Given the description of an element on the screen output the (x, y) to click on. 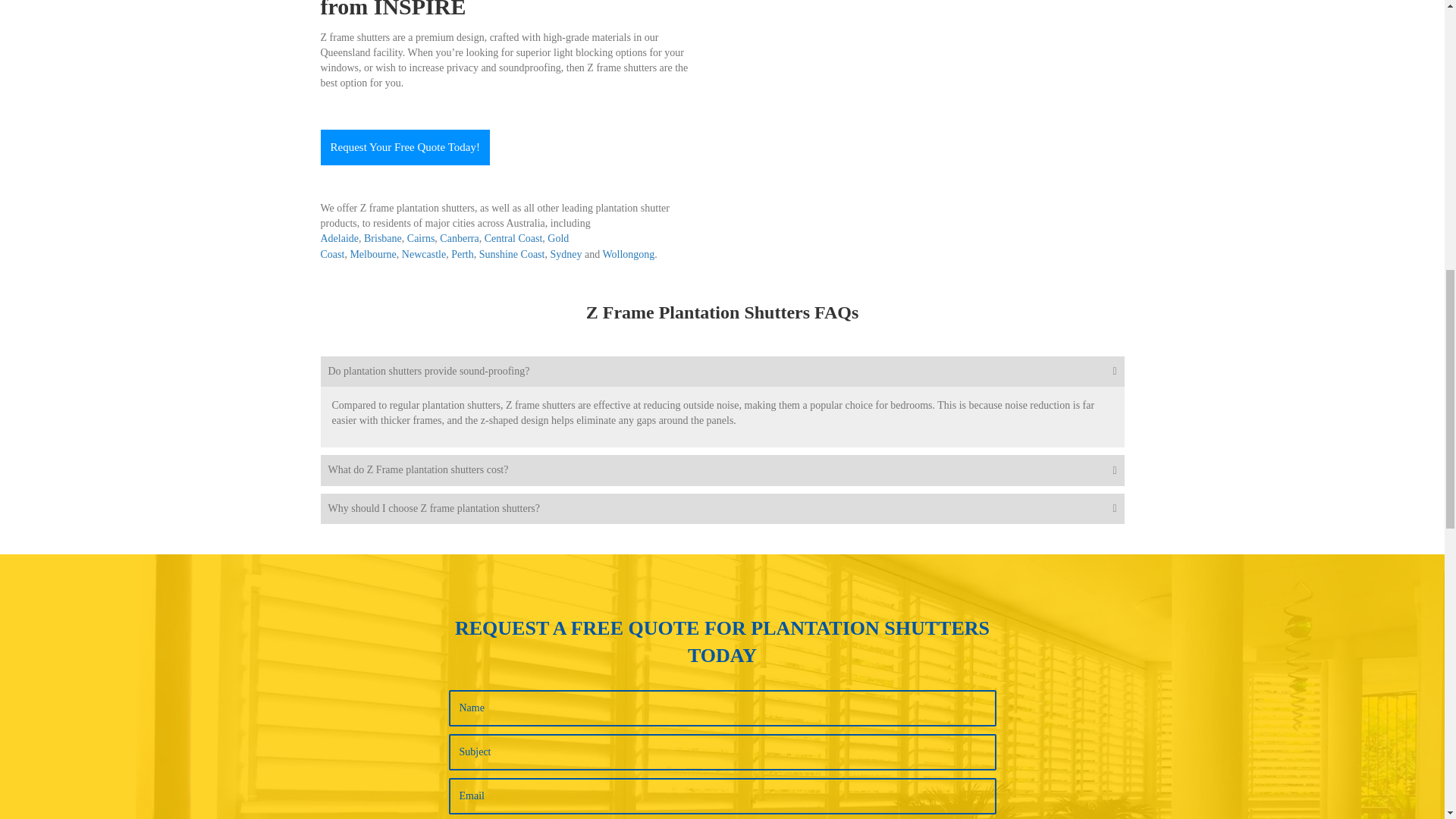
Newcastle (423, 254)
Sydney (565, 254)
Wollongong (627, 254)
Brisbane (382, 238)
Melbourne (372, 254)
Cairns (421, 238)
Canberra (459, 238)
Central Coast (513, 238)
Adelaide (339, 238)
Request Your Free Quote Today! (404, 147)
Sunshine Coast (511, 254)
Gold Coast (444, 245)
Perth (462, 254)
